Given the description of an element on the screen output the (x, y) to click on. 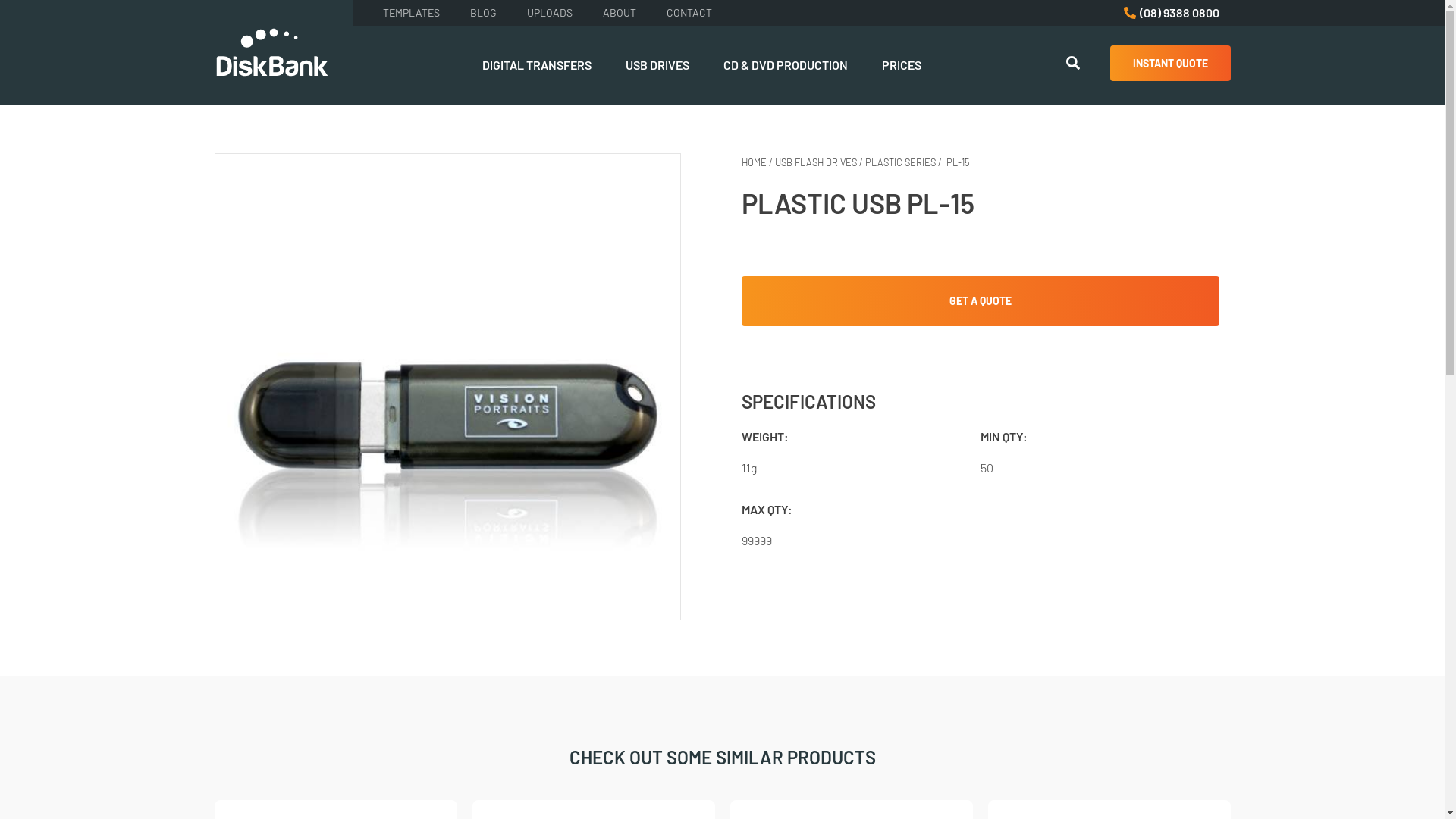
USB FLASH DRIVES Element type: text (815, 162)
HOME Element type: text (753, 162)
CONTACT Element type: text (688, 15)
INSTANT QUOTE Element type: text (1170, 63)
UPLOADS Element type: text (548, 15)
BLOG Element type: text (483, 15)
(08) 9388 0800 Element type: text (1170, 12)
GET A QUOTE Element type: text (980, 301)
PLASTIC SERIES Element type: text (900, 162)
DiskBank Element type: hover (271, 51)
ABOUT Element type: text (618, 15)
TEMPLATES Element type: text (410, 15)
